Given the description of an element on the screen output the (x, y) to click on. 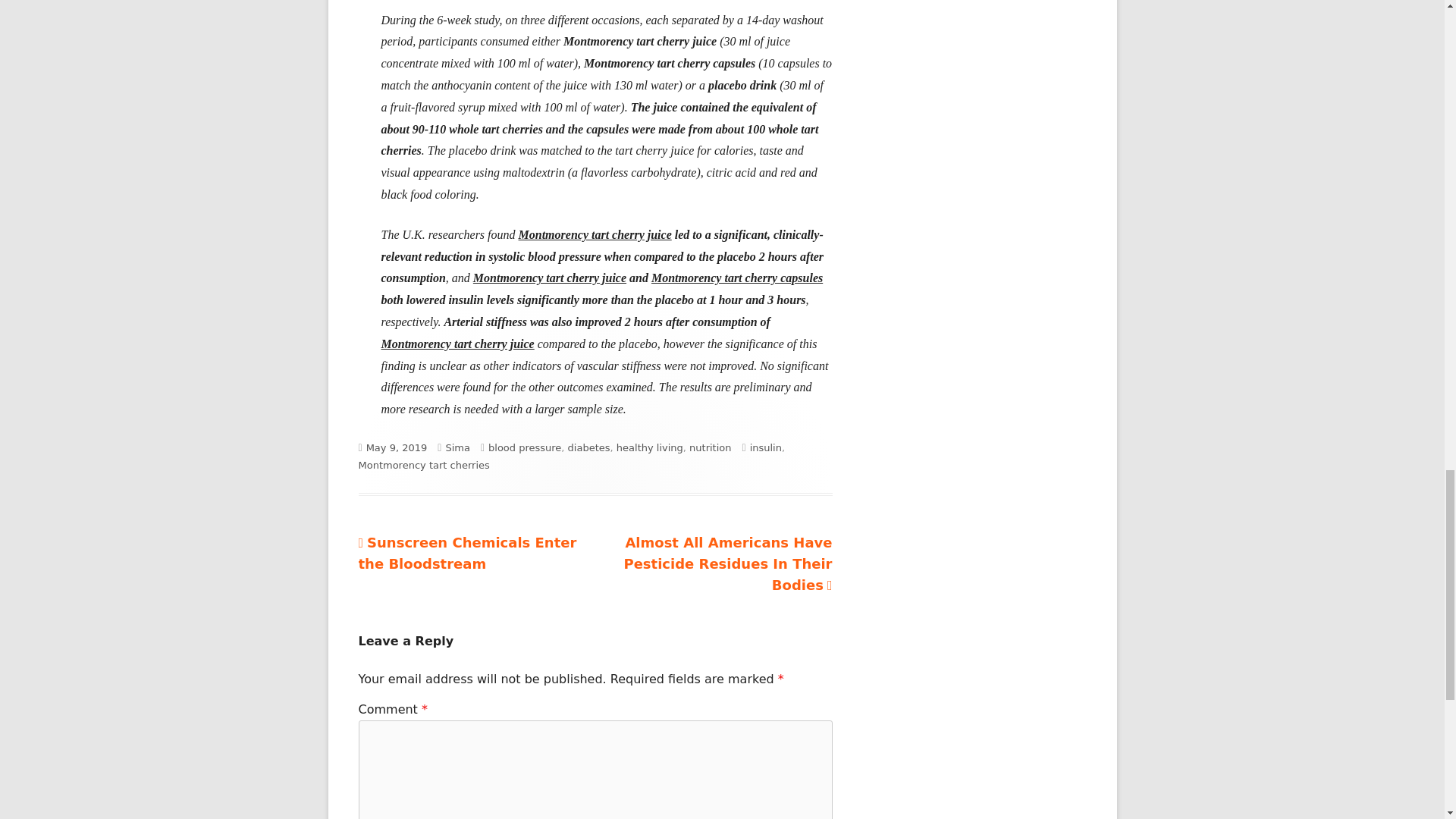
healthy living (648, 447)
blood pressure (523, 447)
diabetes (588, 447)
nutrition (709, 447)
Montmorency tart cherries (423, 464)
May 9, 2019 (397, 447)
Sima (467, 552)
insulin (457, 447)
